Given the description of an element on the screen output the (x, y) to click on. 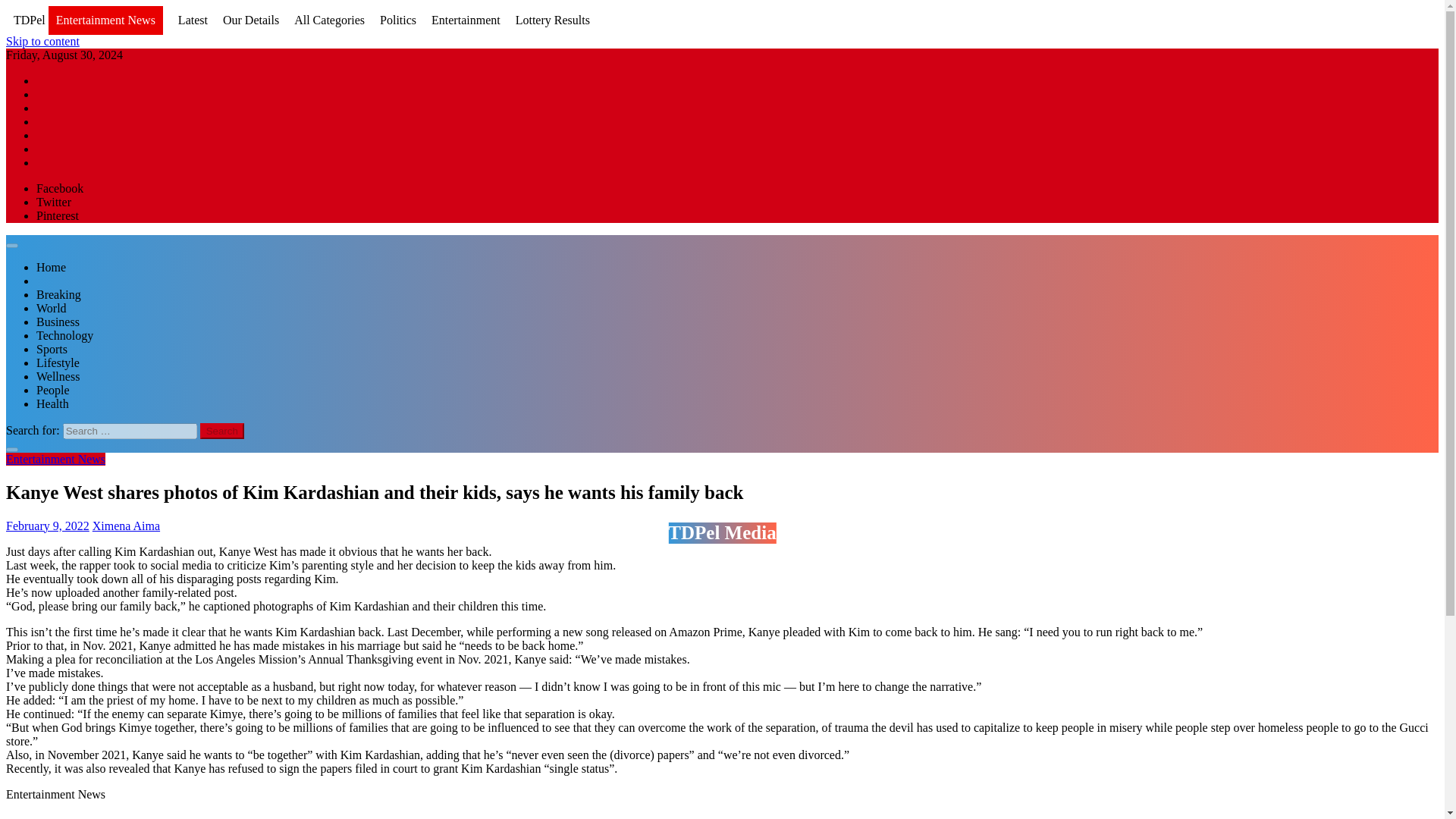
People (52, 390)
Wellness (58, 376)
Breaking (58, 294)
Health (52, 403)
Search (222, 430)
Technology (64, 335)
TDPel (29, 19)
World (51, 308)
All Categories (329, 19)
Politics (398, 19)
